Given the description of an element on the screen output the (x, y) to click on. 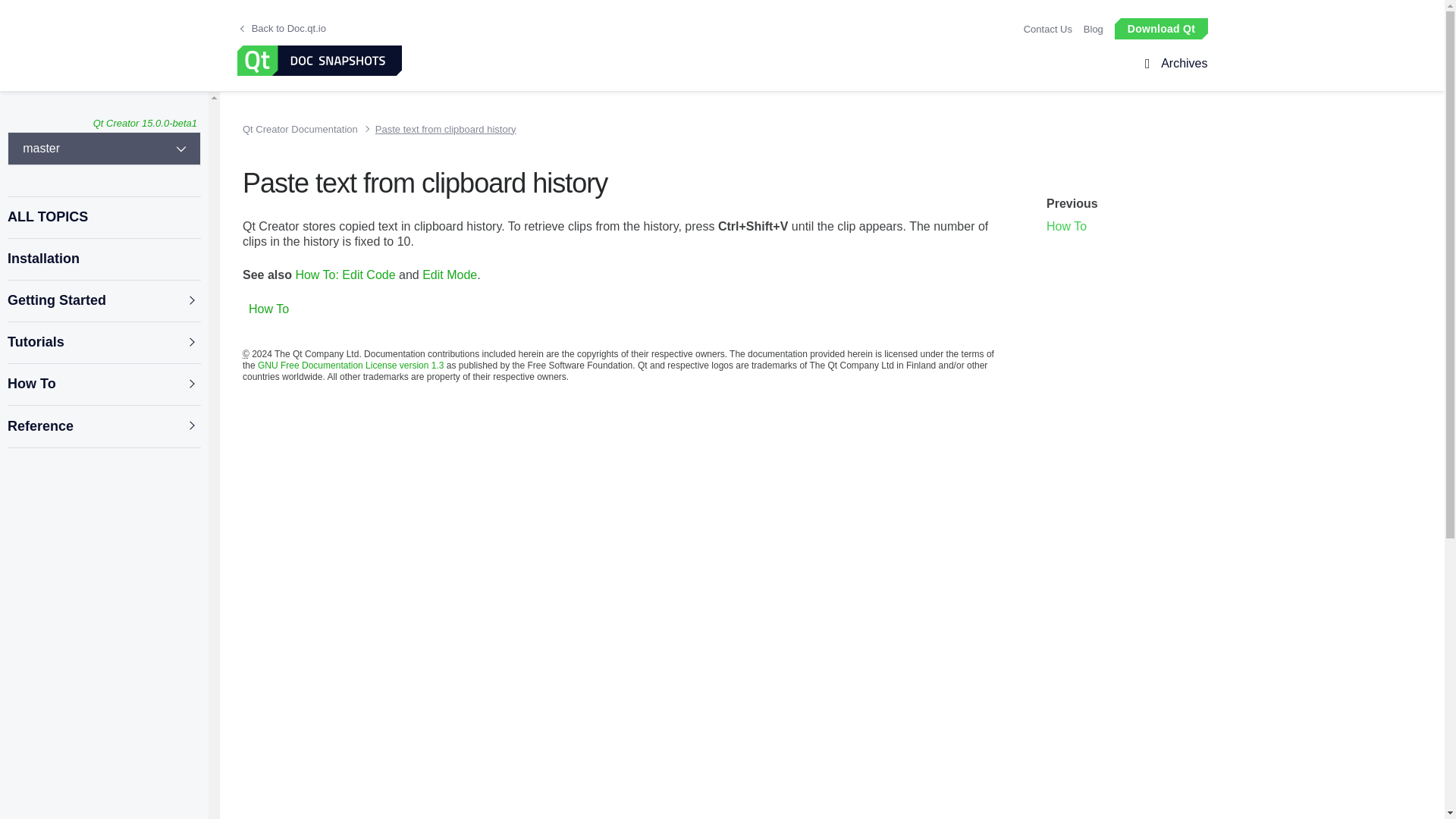
Installation (103, 258)
Blog (1093, 28)
Tutorials (103, 342)
ALL TOPICS (103, 217)
Qt Creator 15.0.0-beta1 (144, 122)
Contact Us (1047, 28)
How To (103, 384)
Back to Doc.qt.io (282, 28)
Archives (1181, 63)
Getting Started (103, 300)
Download Qt (1160, 27)
